Given the description of an element on the screen output the (x, y) to click on. 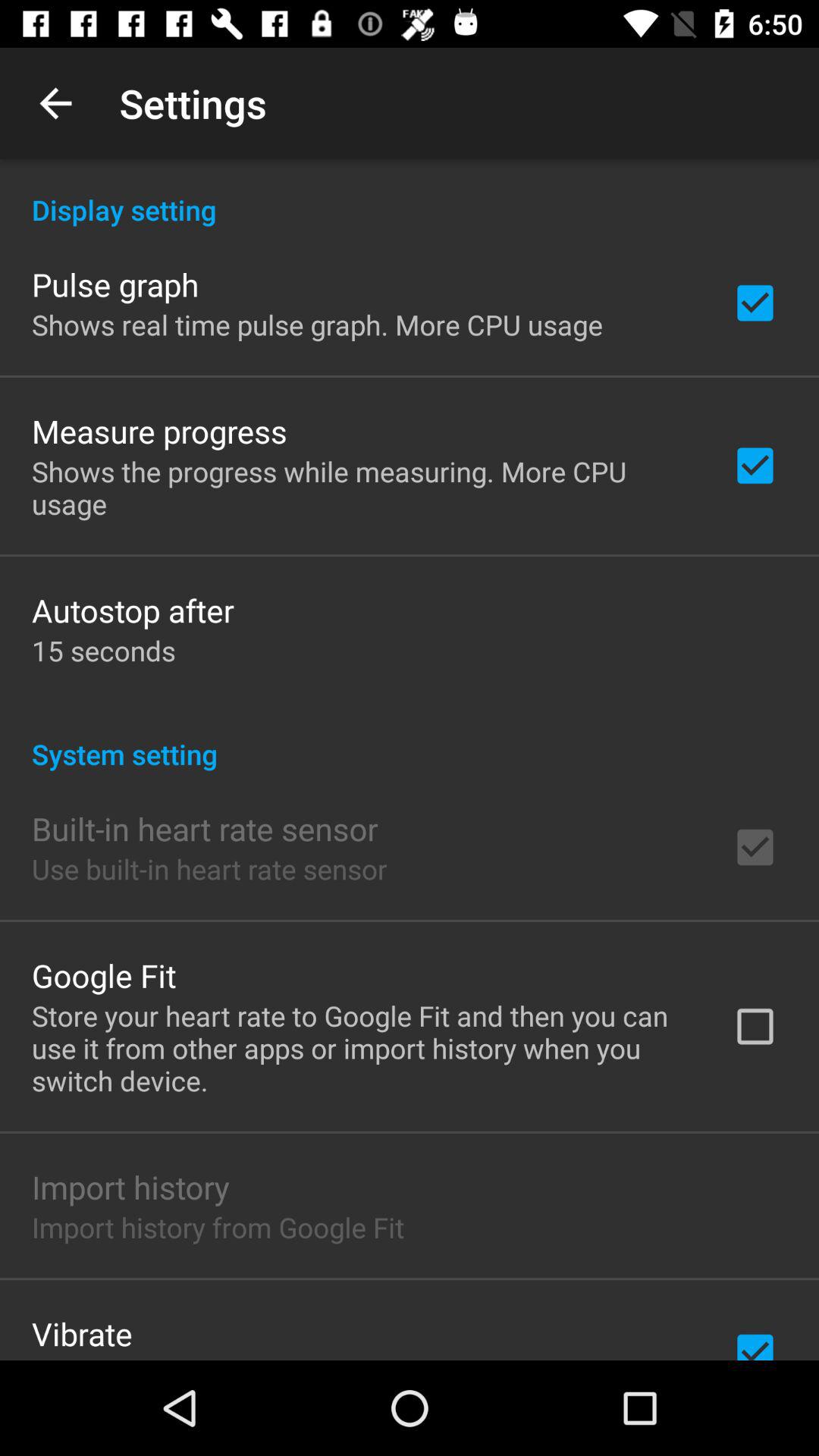
swipe until the shows the progress icon (361, 487)
